Given the description of an element on the screen output the (x, y) to click on. 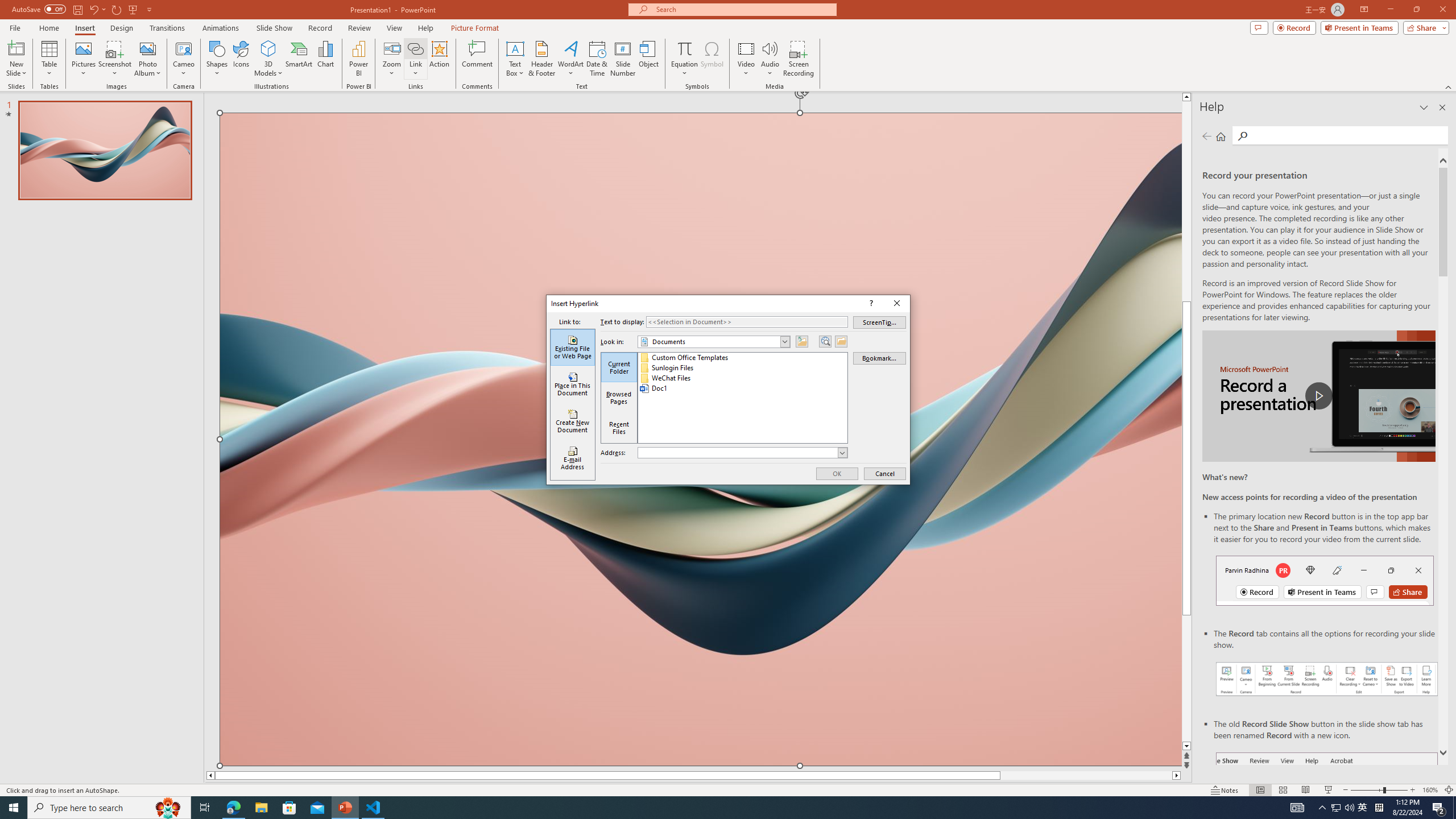
Browse the Web (824, 341)
Picture Format (475, 28)
Existing File or Web Page (572, 347)
Place in This Document (572, 384)
